Given the description of an element on the screen output the (x, y) to click on. 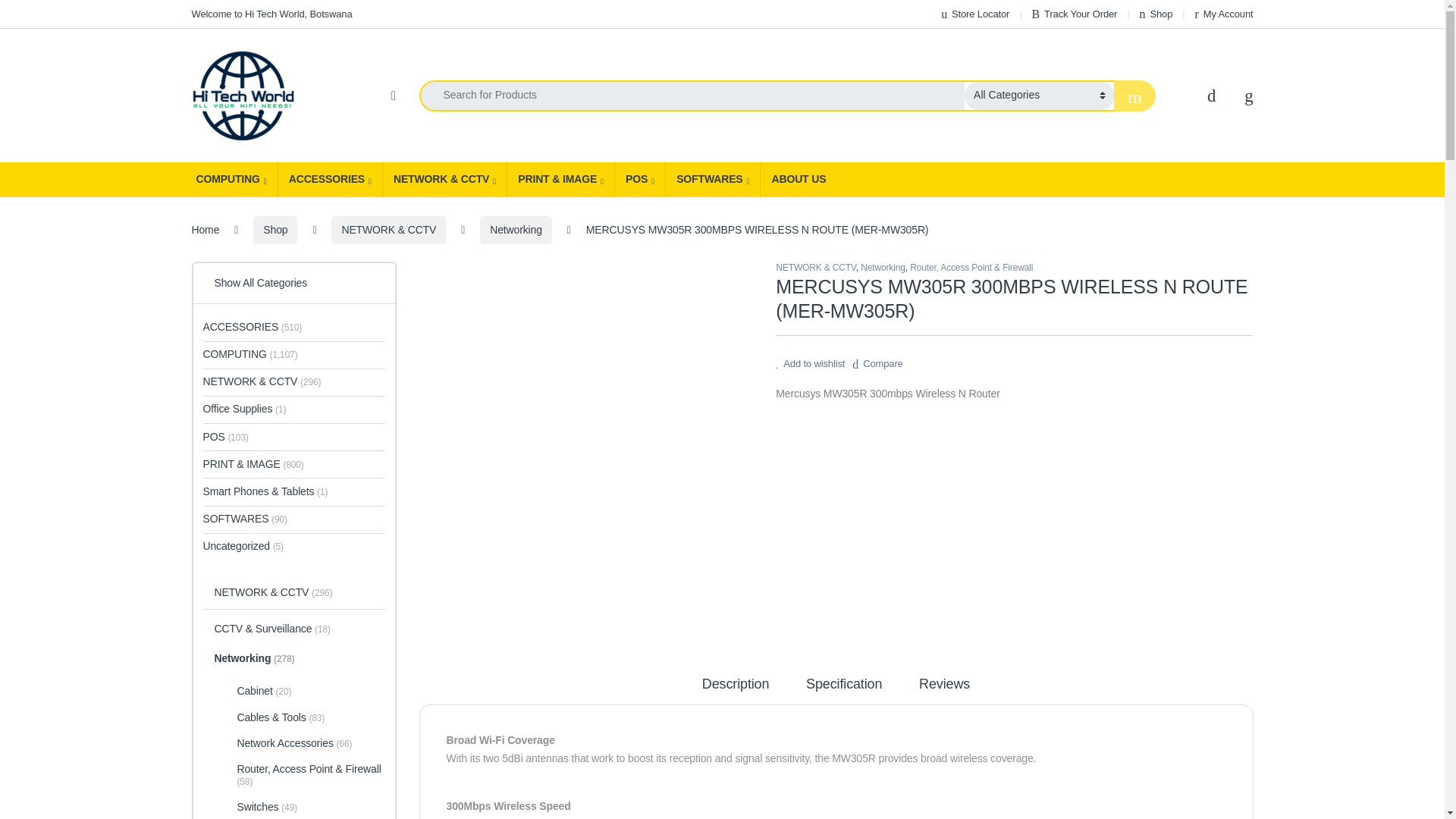
Track Your Order (1073, 13)
Welcome to Hi Tech World, Botswana (271, 13)
My Account (1224, 13)
My Account (1224, 13)
COMPUTING (230, 179)
Shop (1156, 13)
Track Your Order (1073, 13)
Shop (1156, 13)
Welcome to Hi Tech World, Botswana (271, 13)
Store Locator (974, 13)
Store Locator (974, 13)
